Given the description of an element on the screen output the (x, y) to click on. 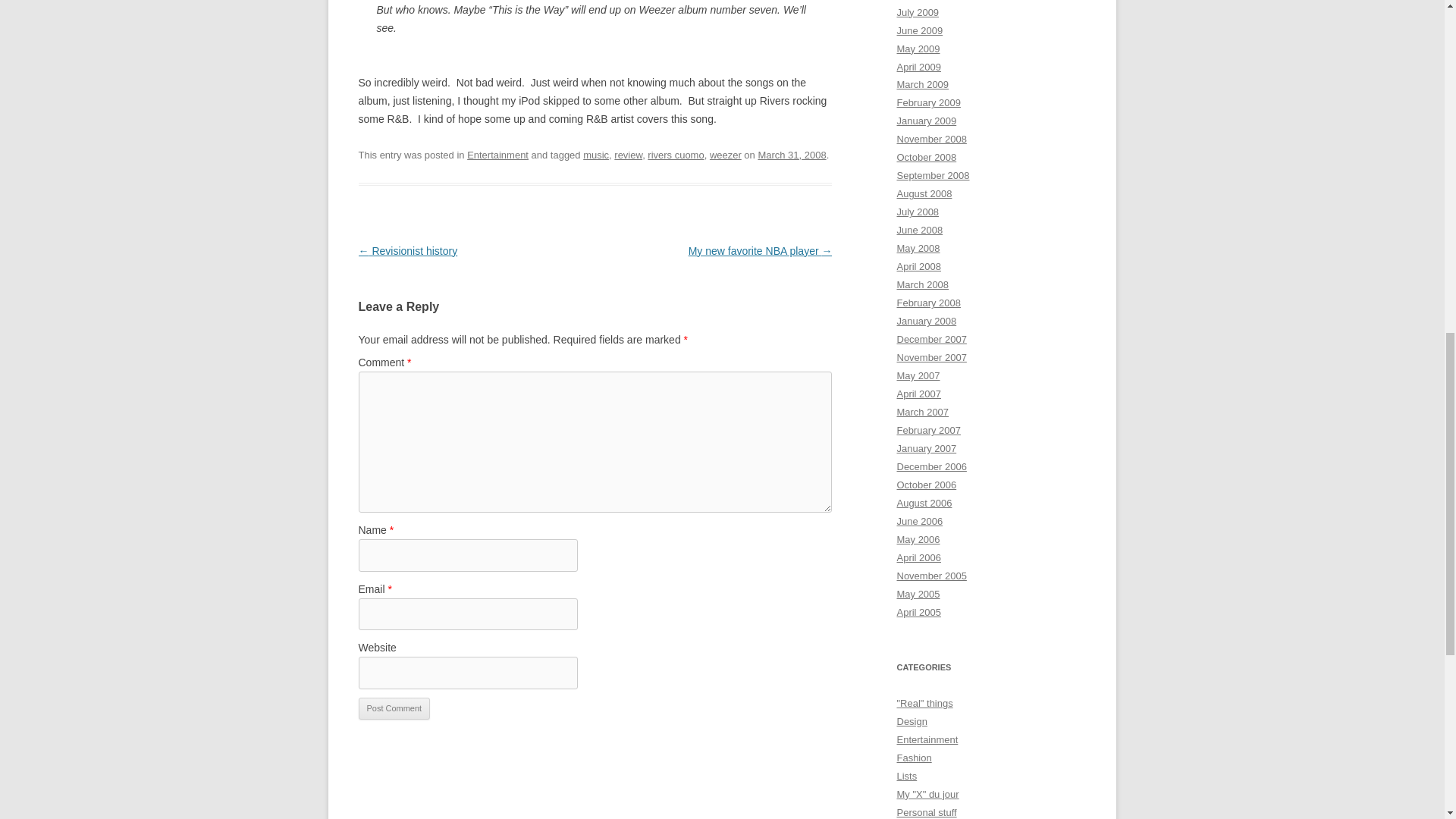
music (595, 154)
Post Comment (393, 708)
rivers cuomo (675, 154)
6:19 pm (791, 154)
Entertainment (497, 154)
weezer (725, 154)
March 31, 2008 (791, 154)
Post Comment (393, 708)
review (628, 154)
